Given the description of an element on the screen output the (x, y) to click on. 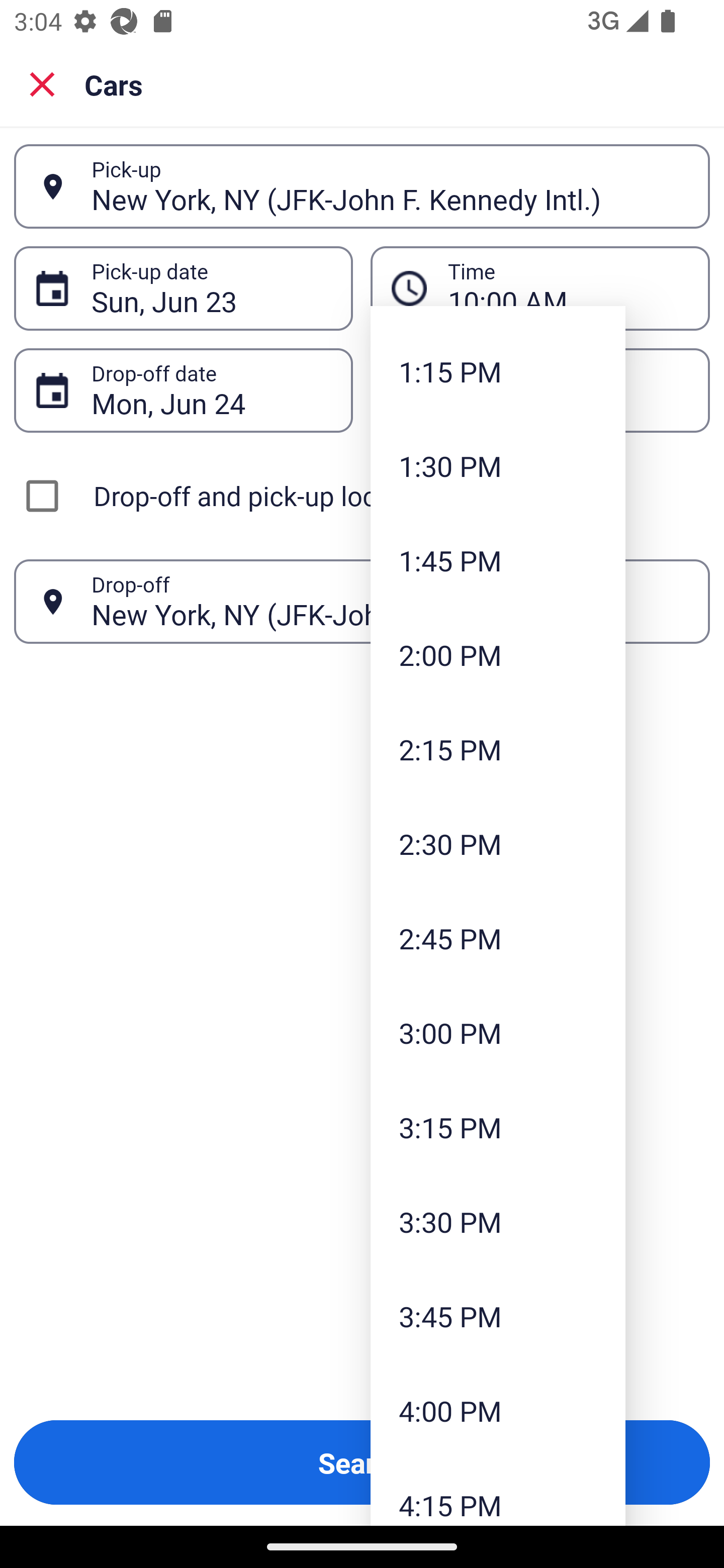
1:15 PM (497, 371)
1:30 PM (497, 465)
1:45 PM (497, 560)
2:00 PM (497, 655)
2:15 PM (497, 749)
2:30 PM (497, 843)
2:45 PM (497, 938)
3:00 PM (497, 1033)
3:15 PM (497, 1127)
3:30 PM (497, 1221)
3:45 PM (497, 1316)
4:00 PM (497, 1411)
4:15 PM (497, 1491)
